Given the description of an element on the screen output the (x, y) to click on. 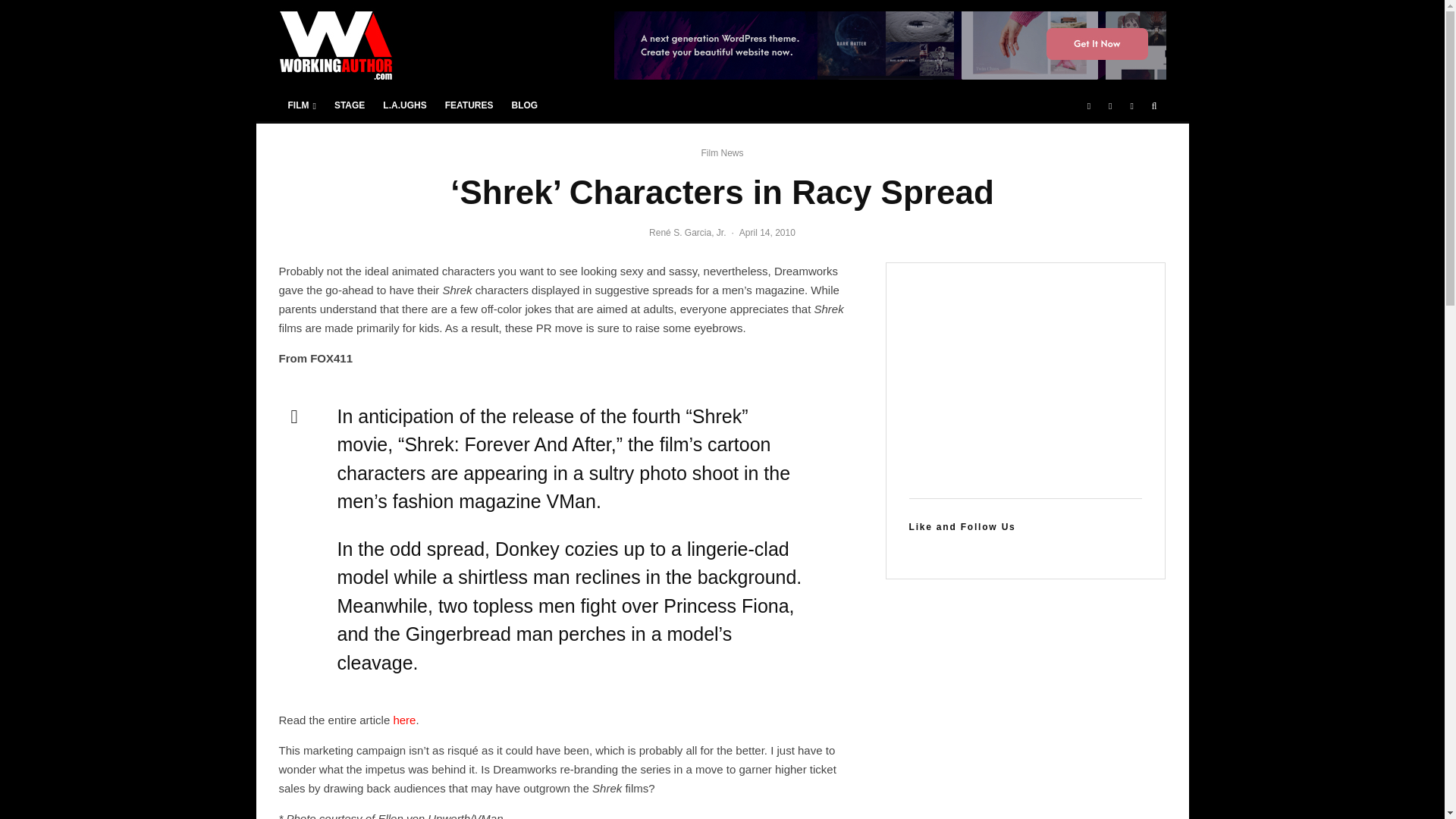
L.A.UGHS (404, 105)
FEATURES (468, 105)
FILM (301, 105)
STAGE (349, 105)
Advertisement (1024, 380)
